Given the description of an element on the screen output the (x, y) to click on. 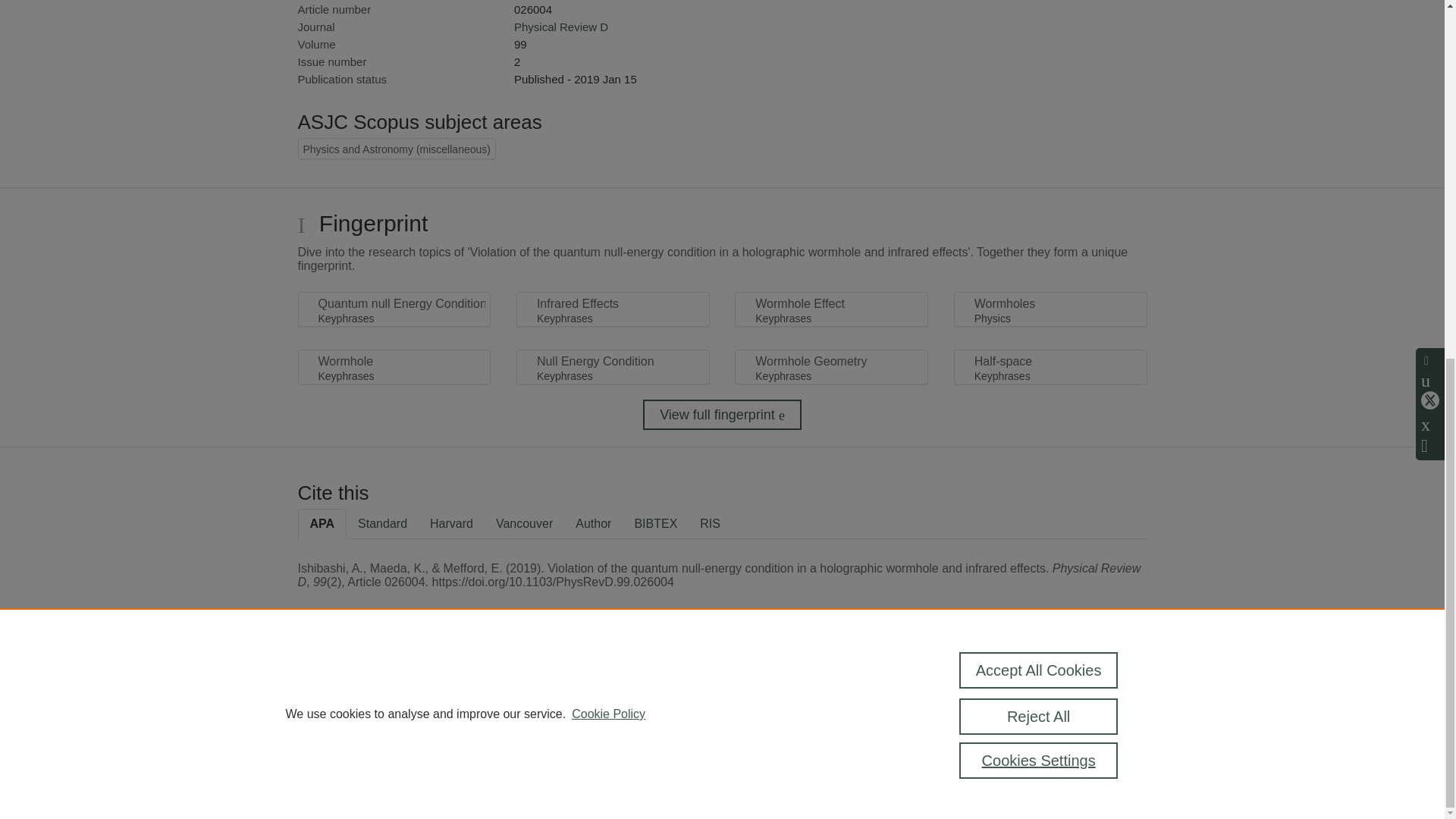
Pure (362, 687)
View full fingerprint (722, 414)
Scopus (394, 687)
Physical Review D (560, 26)
